Given the description of an element on the screen output the (x, y) to click on. 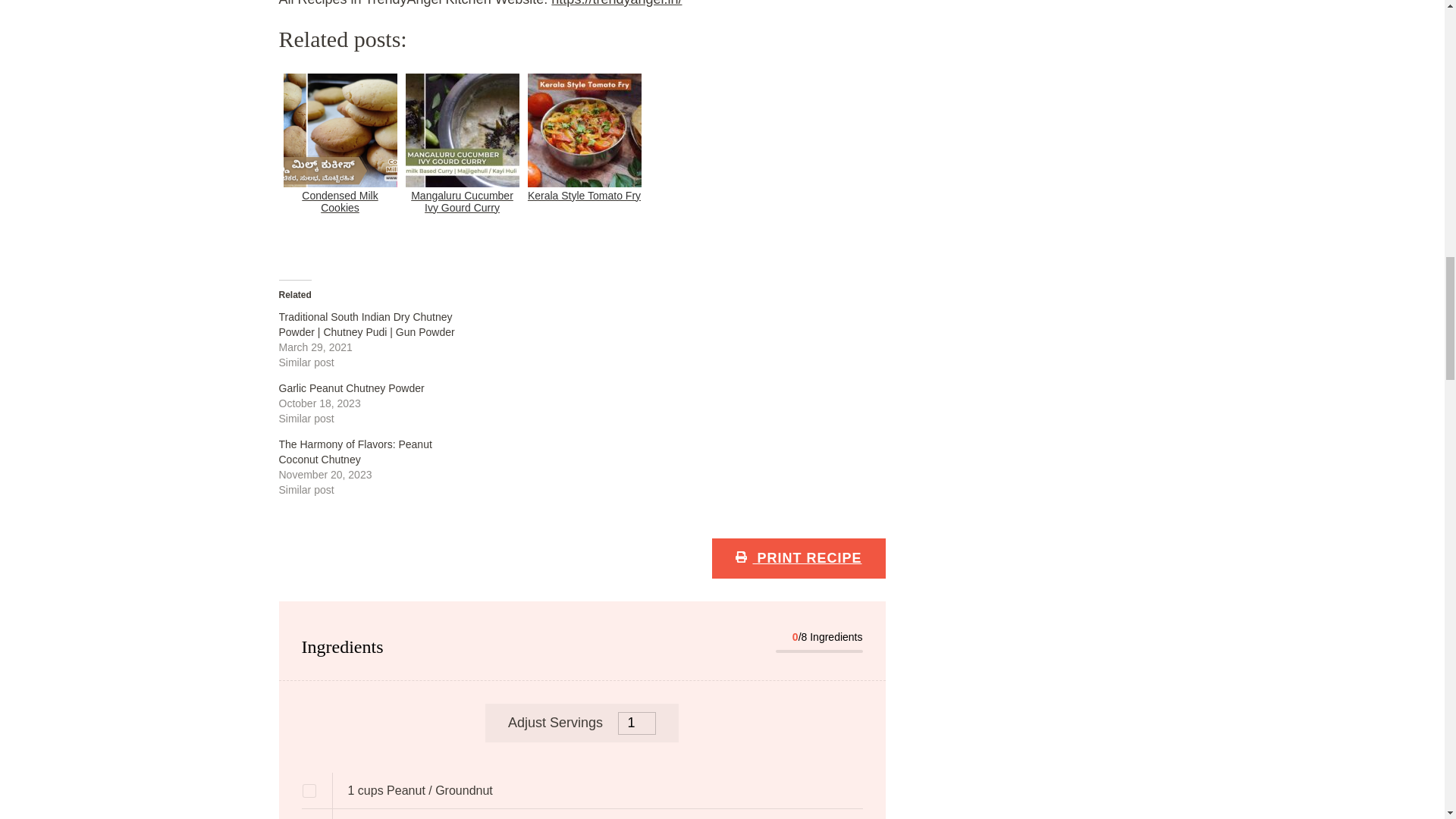
The Harmony of Flavors: Peanut Coconut Chutney (355, 452)
1 (636, 722)
Garlic Peanut Chutney Powder (352, 387)
